Given the description of an element on the screen output the (x, y) to click on. 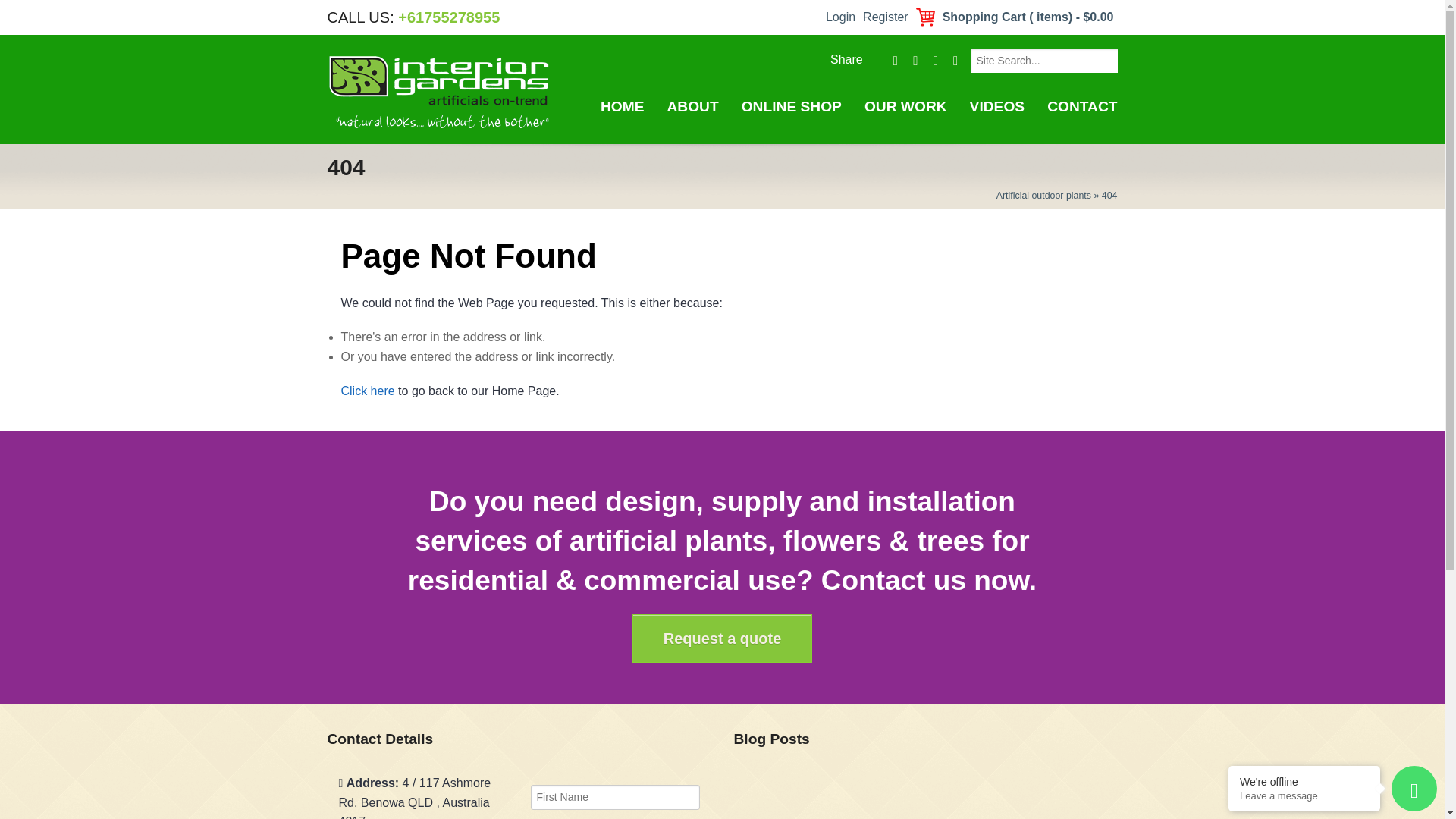
Leave a message (1304, 795)
ONLINE SHOP (791, 106)
ABOUT (692, 106)
Register (885, 17)
Login (840, 17)
HOME (621, 106)
We're offline (1304, 781)
